Given the description of an element on the screen output the (x, y) to click on. 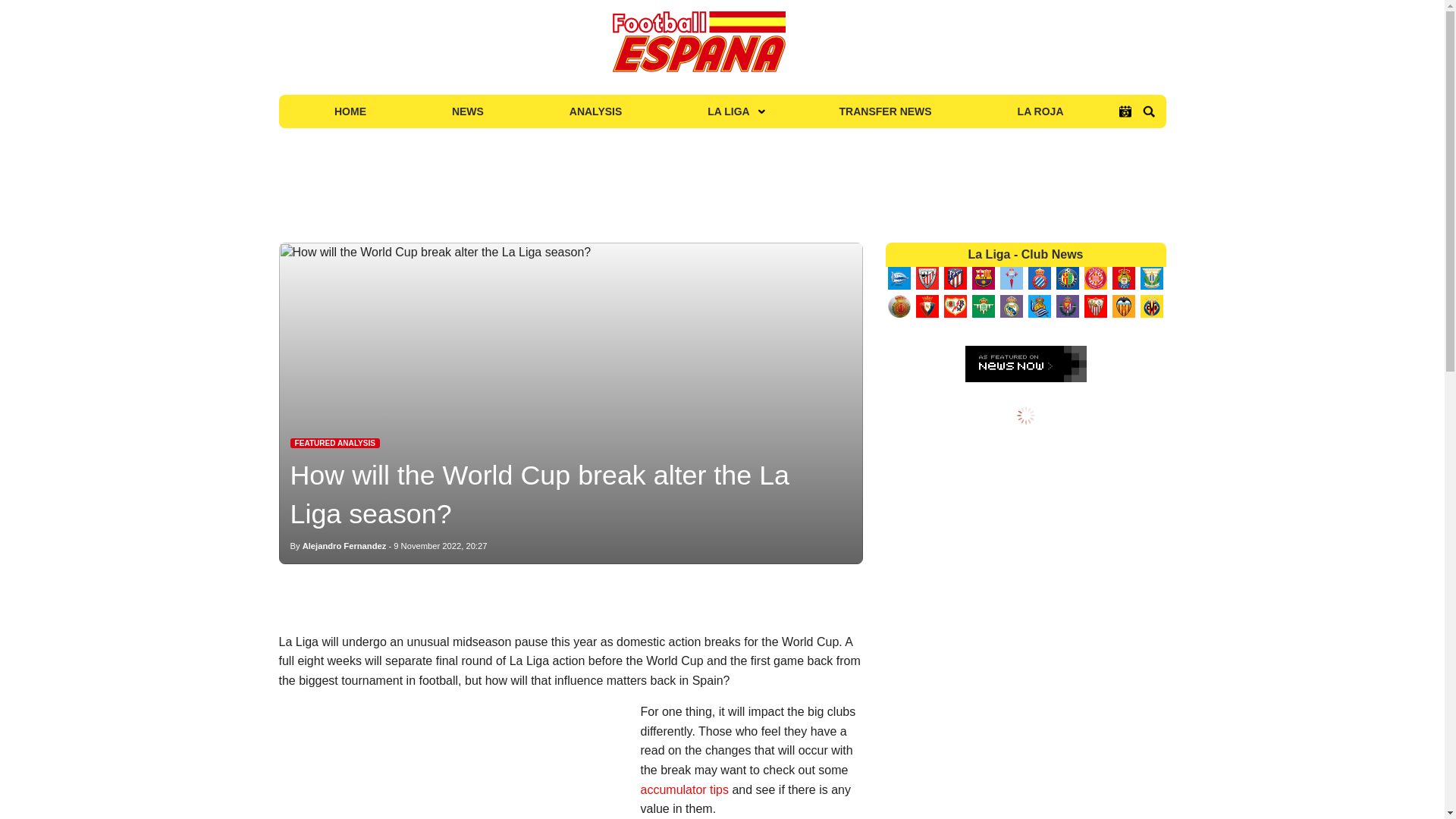
La Liga Fixtures (1125, 111)
HOME (350, 111)
LA LIGA (729, 111)
TRANSFER NEWS (885, 111)
NEWS (468, 111)
ANALYSIS (595, 111)
Search (1147, 111)
LA ROJA (1040, 111)
Latest Featured Analysis News (334, 442)
